Given the description of an element on the screen output the (x, y) to click on. 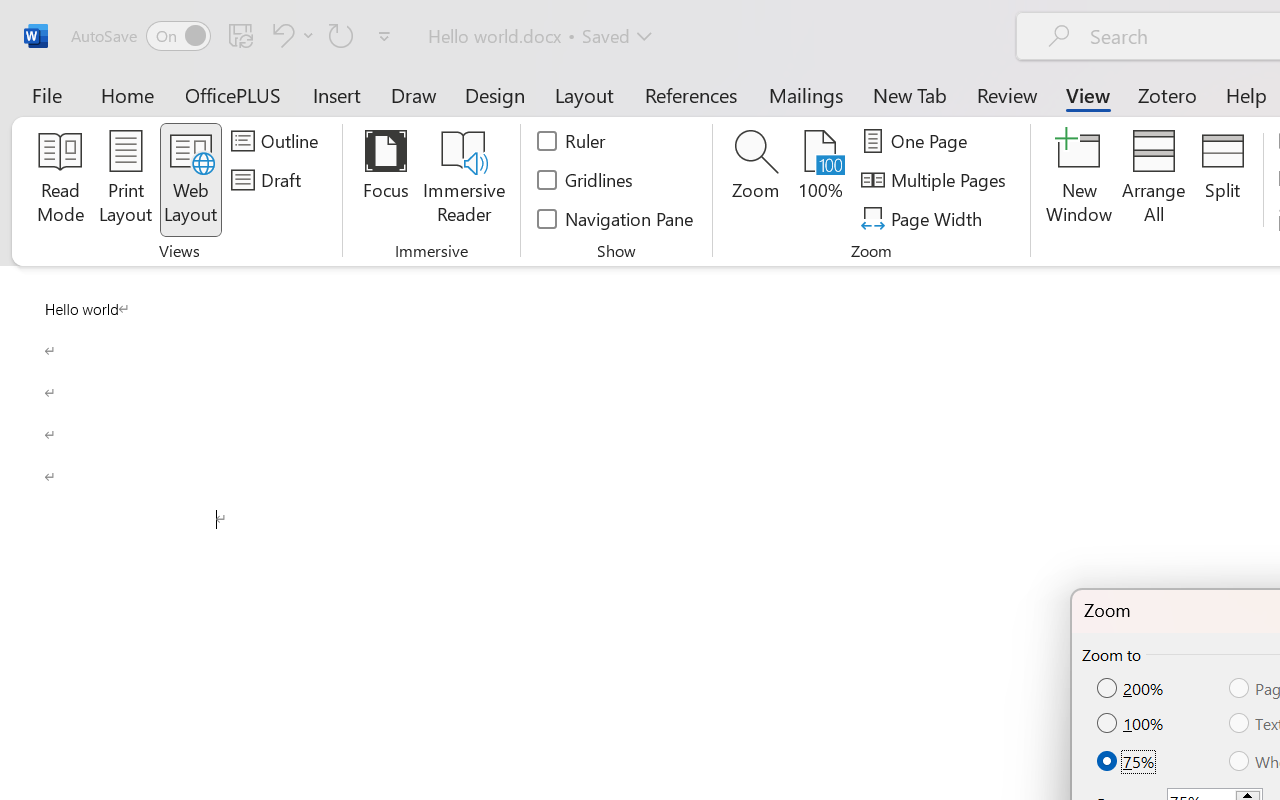
Split (1222, 179)
Save (241, 35)
Quick Access Toolbar (233, 36)
75% (1127, 760)
Mailings (806, 94)
Customize Quick Access Toolbar (384, 35)
One Page (917, 141)
100% (820, 179)
Review (1007, 94)
Read Mode (60, 179)
Immersive Reader (464, 179)
File Tab (46, 94)
Arrange All (1153, 179)
